Given the description of an element on the screen output the (x, y) to click on. 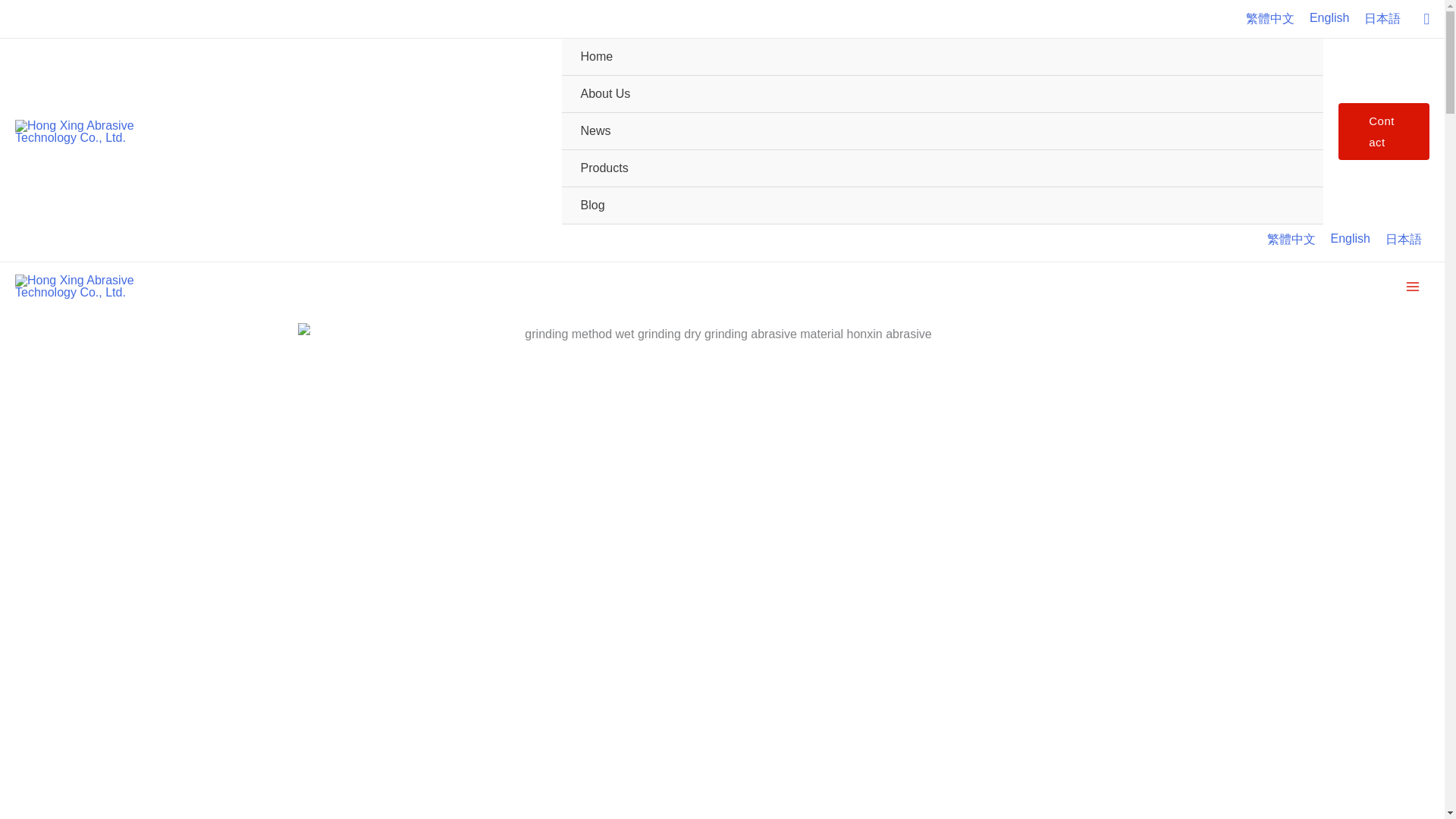
News (942, 131)
Main Menu (1412, 286)
Blog (942, 205)
Home (942, 57)
Products (942, 168)
English (1328, 17)
About Us (942, 94)
English (1350, 238)
Contact (1383, 131)
